Given the description of an element on the screen output the (x, y) to click on. 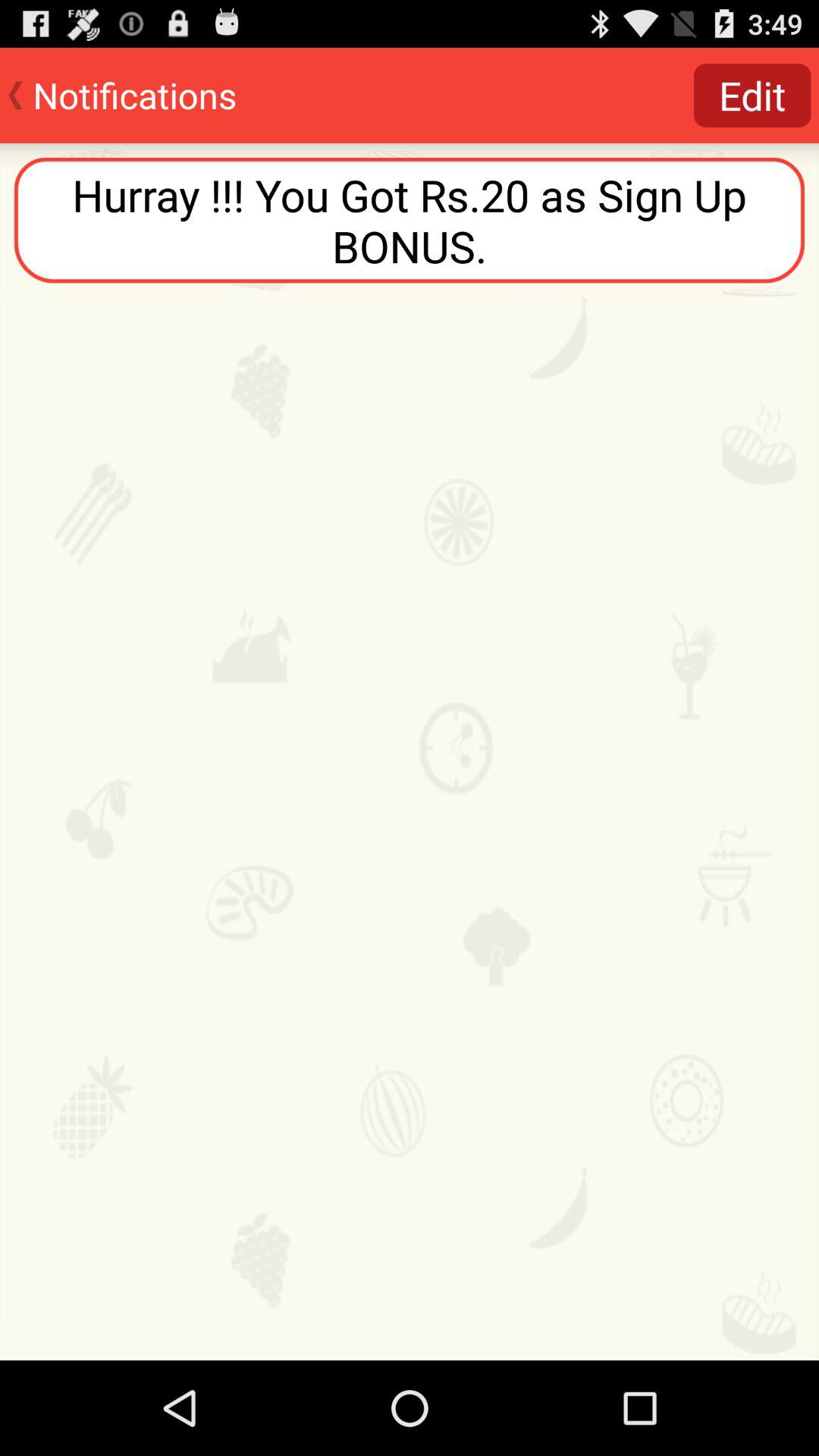
turn off the icon to the right of the notifications (752, 95)
